Given the description of an element on the screen output the (x, y) to click on. 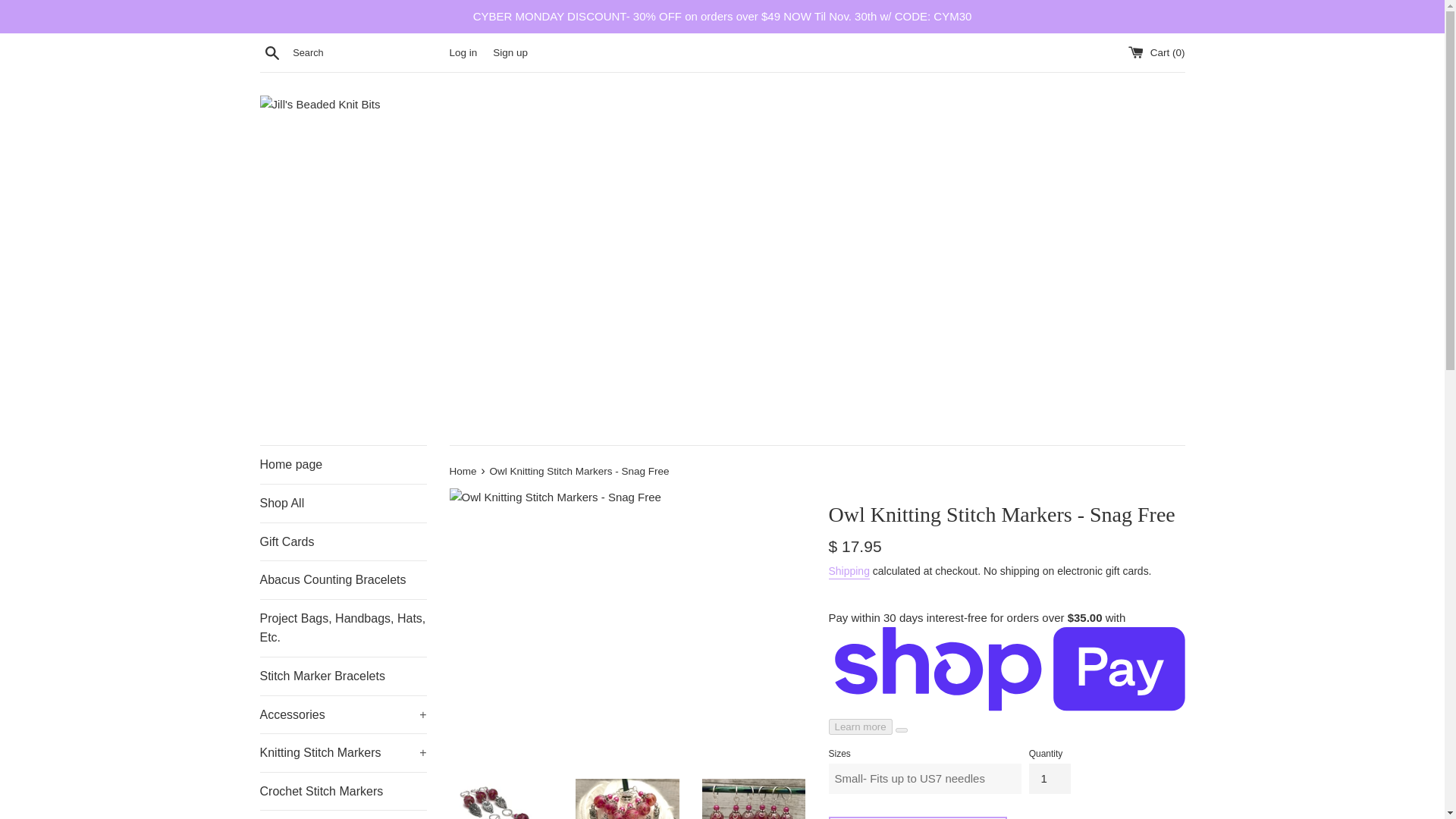
Log in (462, 52)
Gift Cards (342, 542)
Letter Stitch Markers (342, 814)
Crochet Stitch Markers (342, 791)
1 (1049, 778)
Search (271, 52)
Project Bags, Handbags, Hats, Etc. (342, 627)
Home page (342, 464)
Back to the frontpage (463, 471)
Sign up (510, 52)
Shop All (342, 503)
Stitch Marker Bracelets (342, 676)
Abacus Counting Bracelets (342, 579)
